Given the description of an element on the screen output the (x, y) to click on. 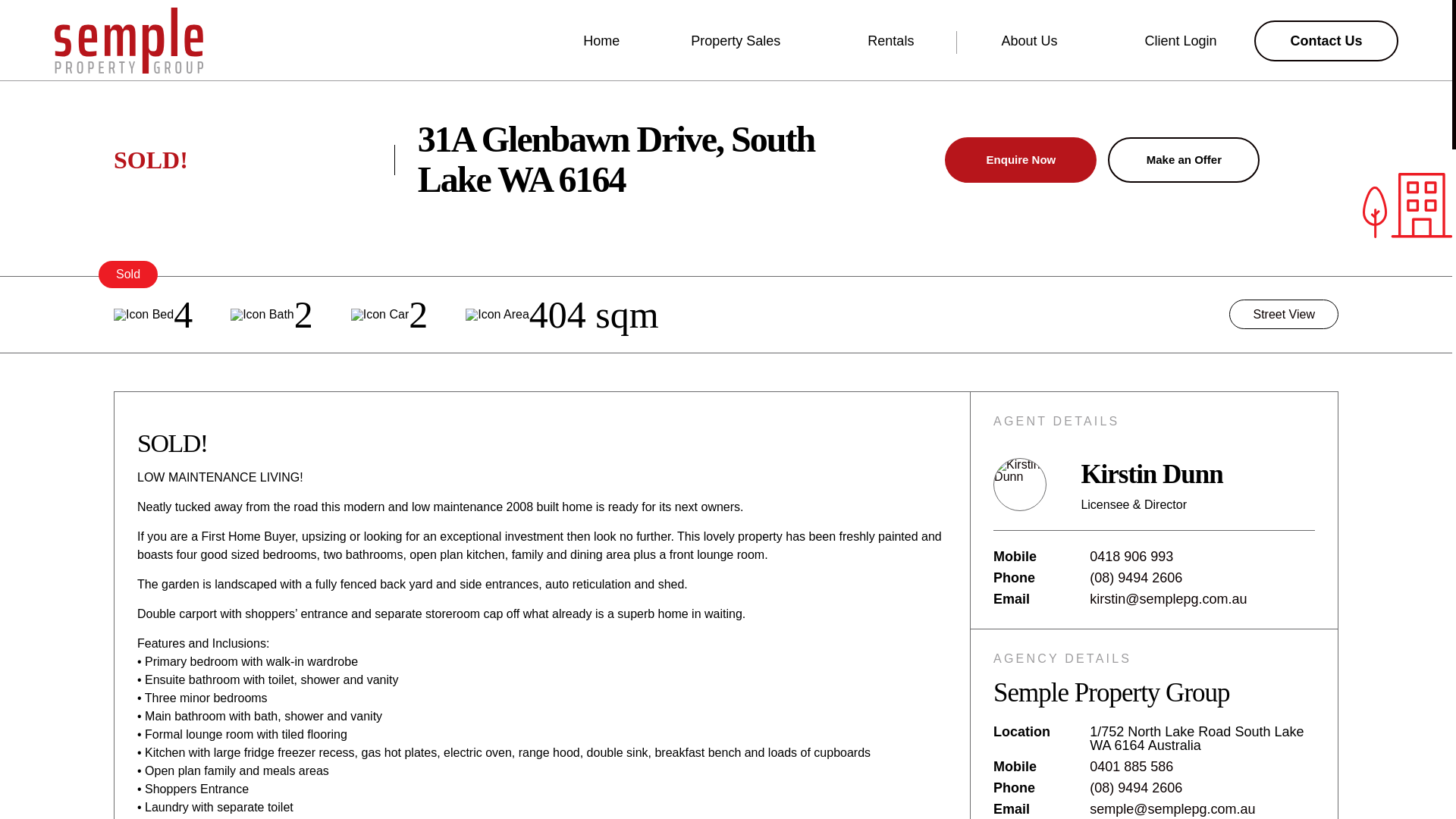
Property Sales (743, 40)
Home (601, 40)
Rentals (898, 40)
